Given the description of an element on the screen output the (x, y) to click on. 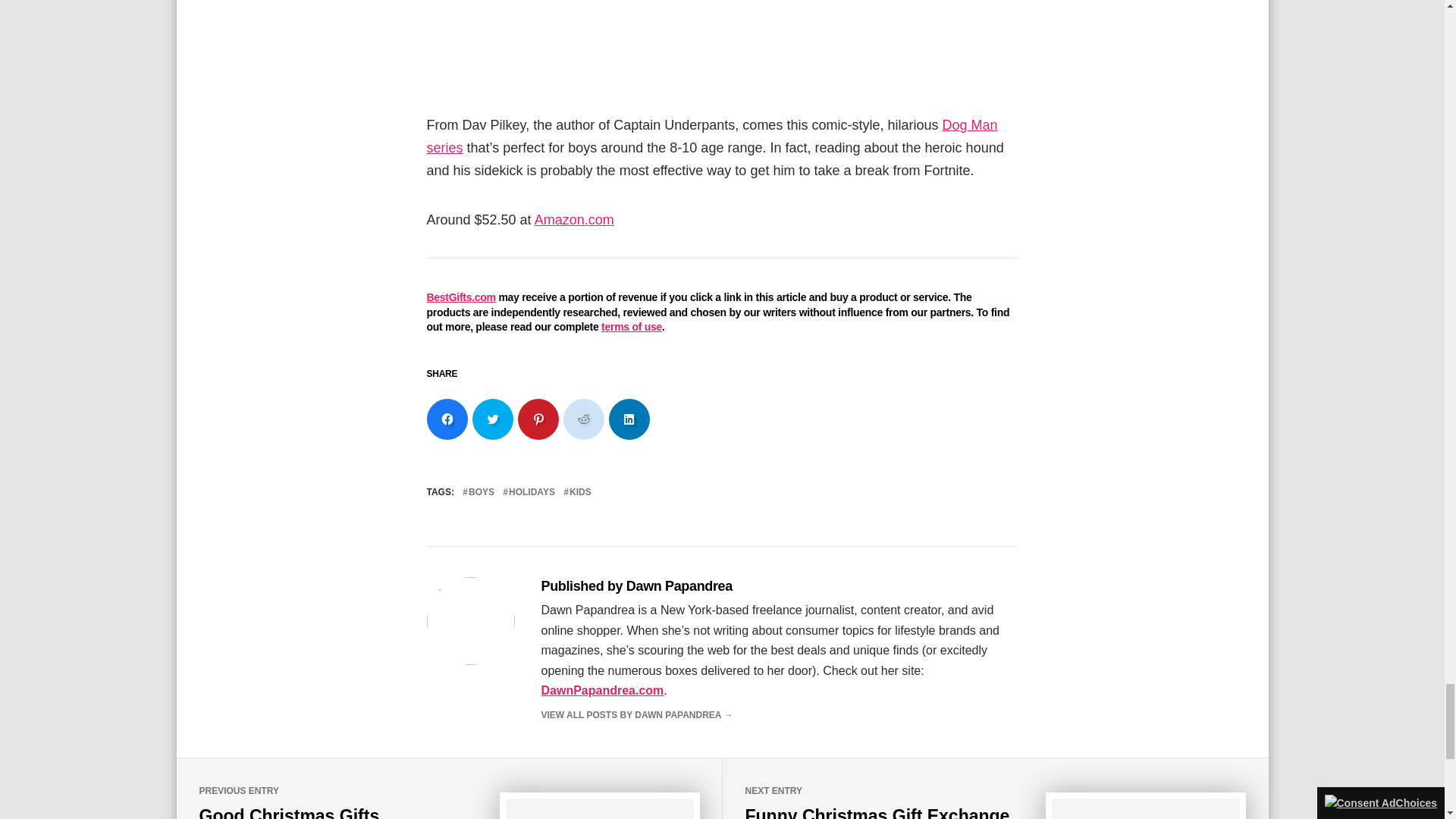
Click to share on LinkedIn (628, 418)
Click to share on Twitter (491, 418)
Click to share on Pinterest (536, 418)
Click to share on Reddit (583, 418)
Click to share on Facebook (446, 418)
